Given the description of an element on the screen output the (x, y) to click on. 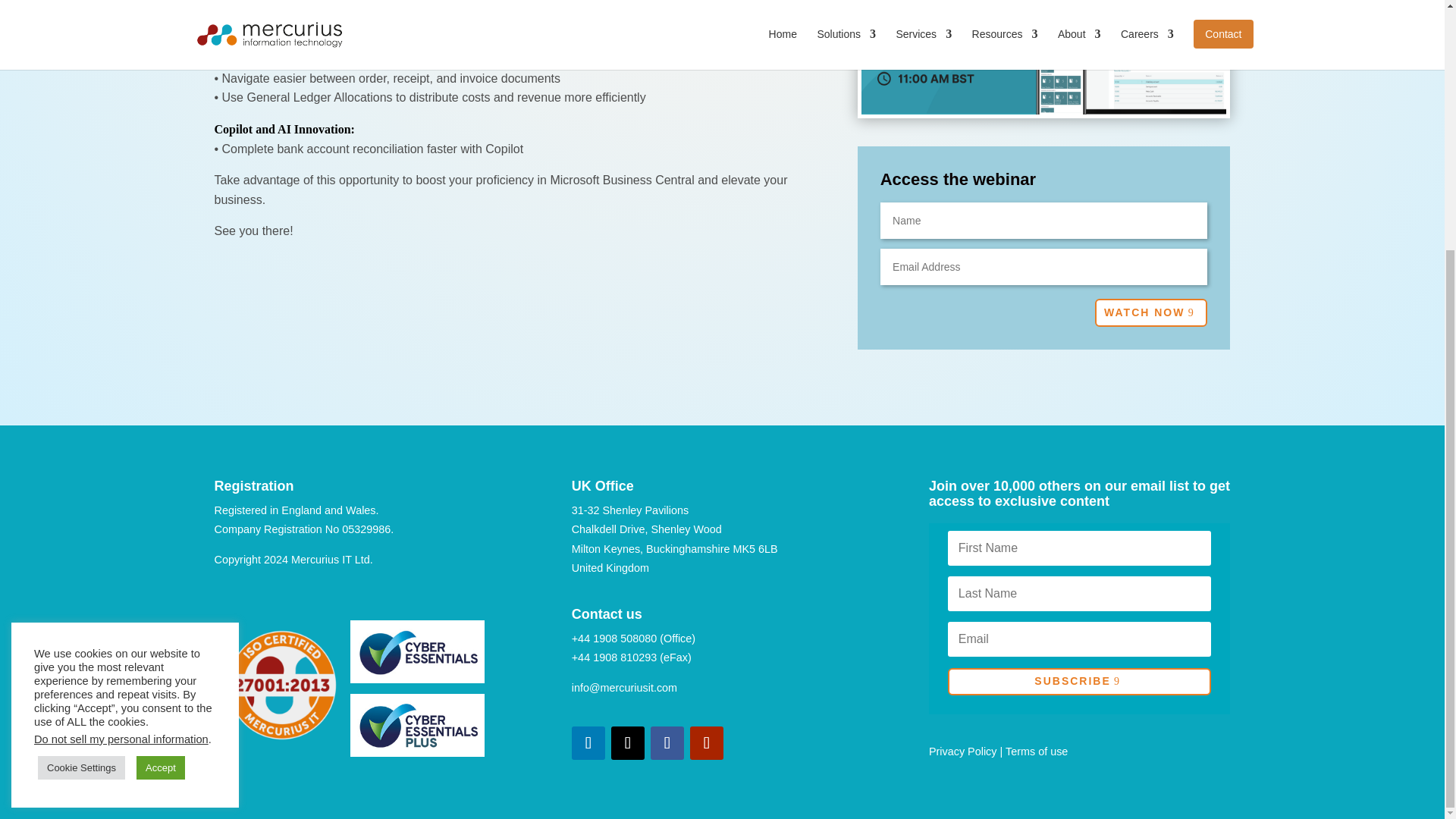
Follow on Facebook (667, 743)
Follow on Twitter (628, 743)
Follow on LinkedIn (588, 743)
Follow on Youtube (706, 743)
BC-RW2-OCT-Webinar-Thumbnal (1044, 57)
